Given the description of an element on the screen output the (x, y) to click on. 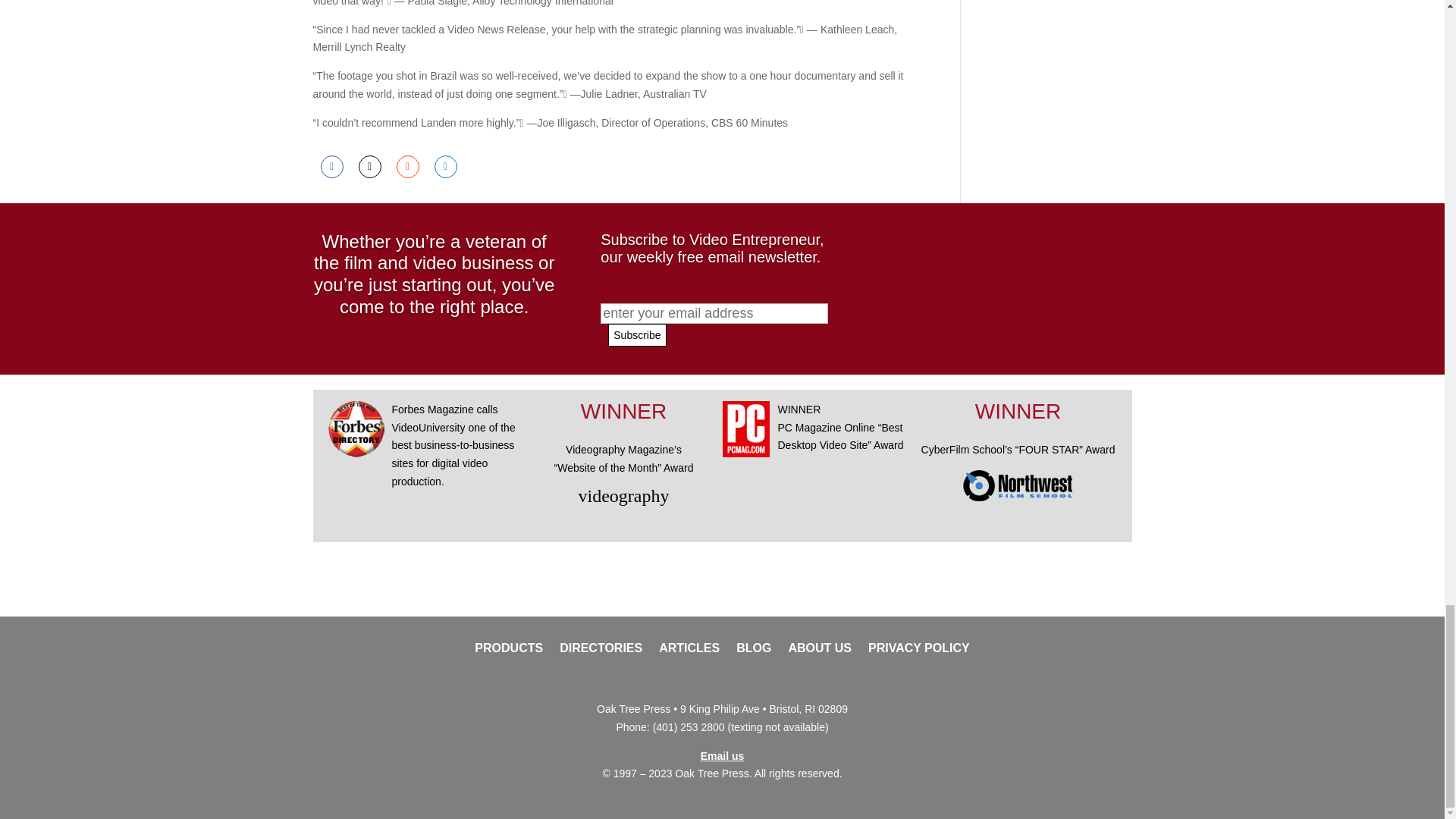
Subscribe (636, 334)
